Given the description of an element on the screen output the (x, y) to click on. 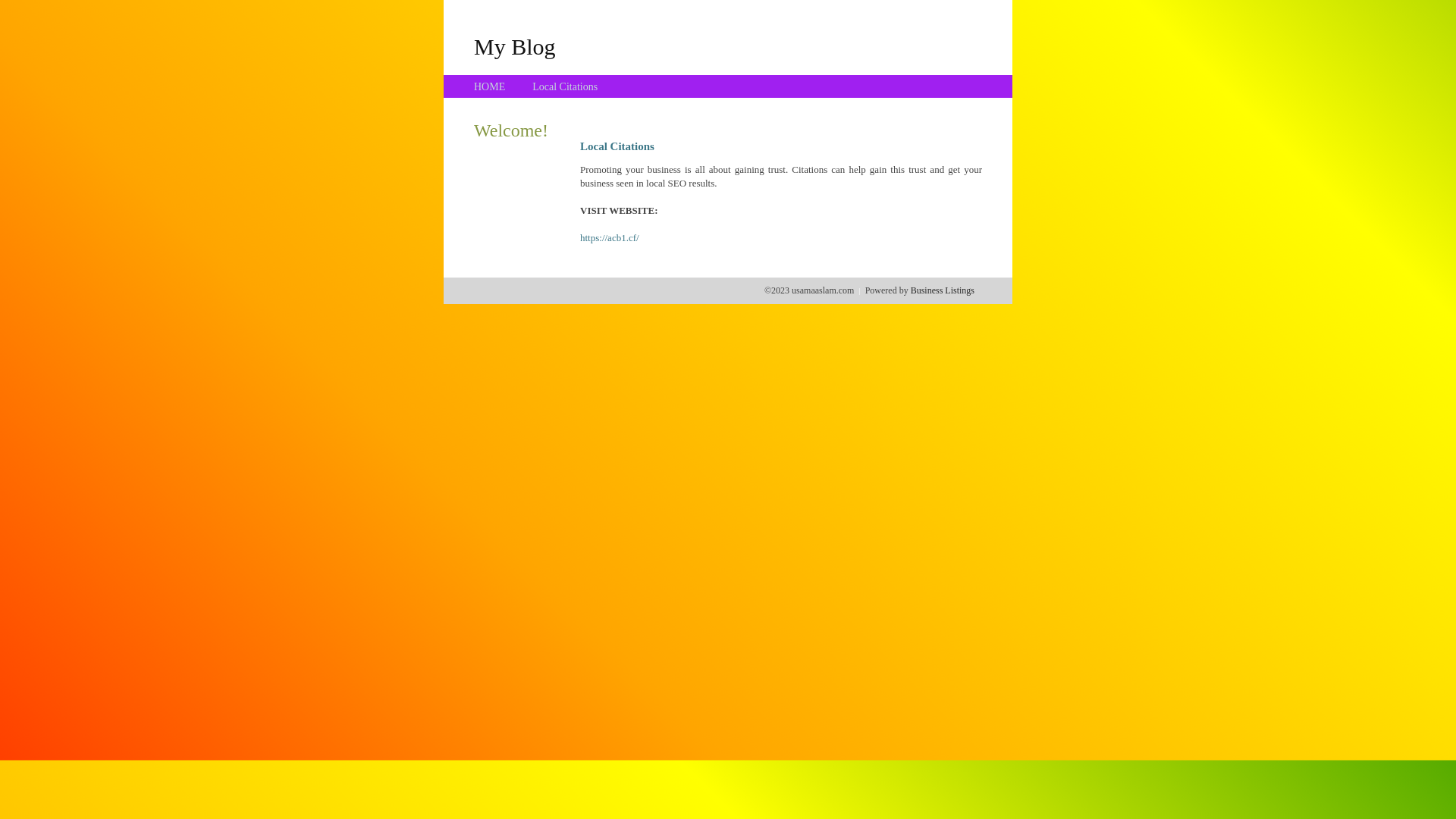
https://acb1.cf/ Element type: text (609, 237)
Local Citations Element type: text (564, 86)
Business Listings Element type: text (942, 290)
My Blog Element type: text (514, 46)
HOME Element type: text (489, 86)
